Given the description of an element on the screen output the (x, y) to click on. 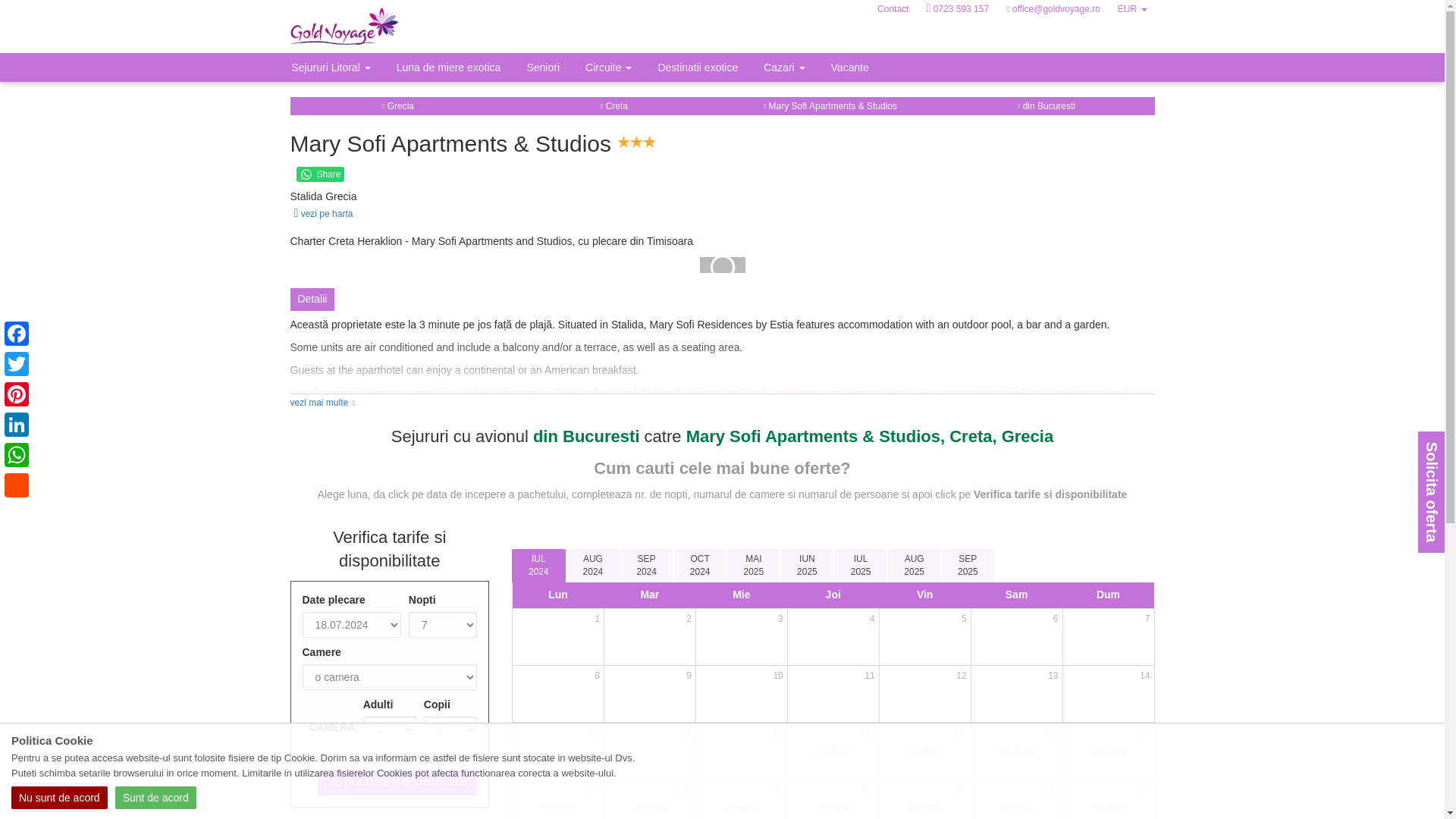
Sejururi Litoral (331, 67)
Facebook (16, 333)
WhatsApp (16, 454)
Pinterest (16, 394)
Circuite (608, 67)
EUR (1131, 9)
Grecia (397, 105)
Reddit (16, 485)
Creta (613, 105)
LinkedIn (16, 424)
Quick-Sell Logo (367, 26)
Contact (892, 9)
0723 593 157 (956, 9)
Cazari (783, 67)
